Given the description of an element on the screen output the (x, y) to click on. 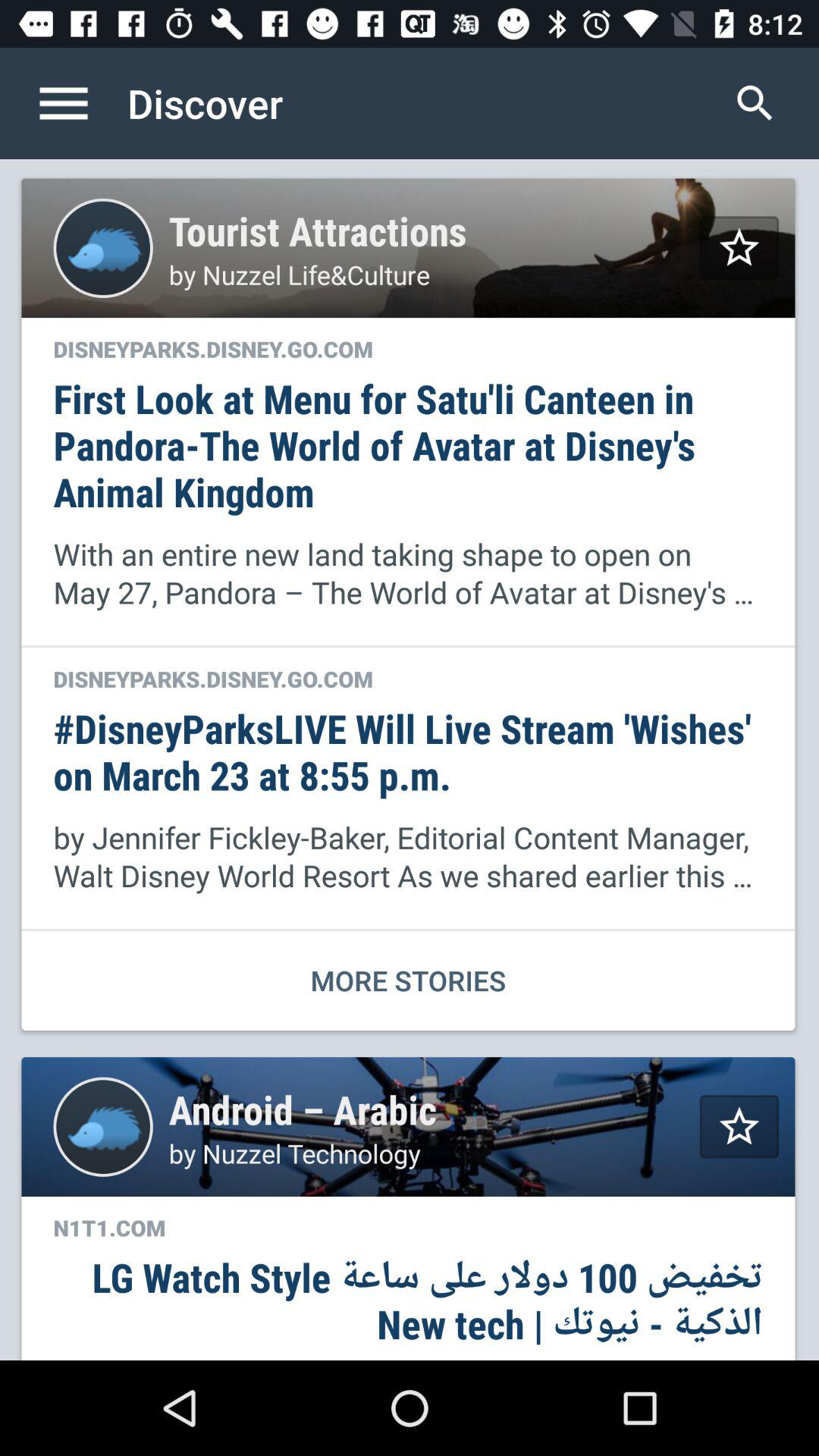
add article to favorites (739, 247)
